Given the description of an element on the screen output the (x, y) to click on. 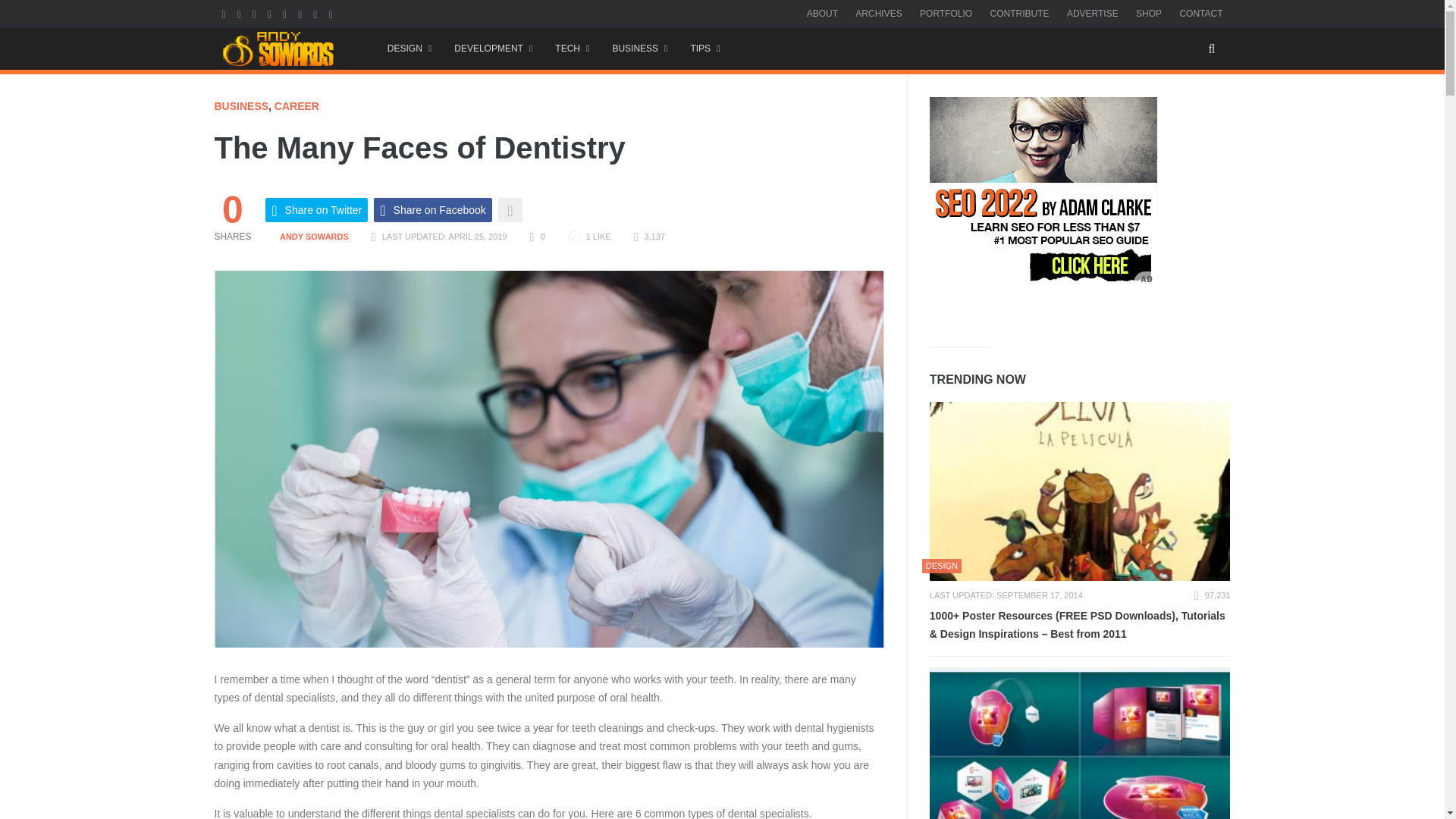
ARCHIVES (878, 13)
BUSINESS (638, 48)
CONTRIBUTE (1019, 13)
DEVELOPMENT (493, 48)
DESIGN (408, 48)
ADVERTISE (1092, 13)
SHOP (1148, 13)
Design (408, 48)
PORTFOLIO (946, 13)
ABOUT (822, 13)
CONTACT (1201, 13)
